Given the description of an element on the screen output the (x, y) to click on. 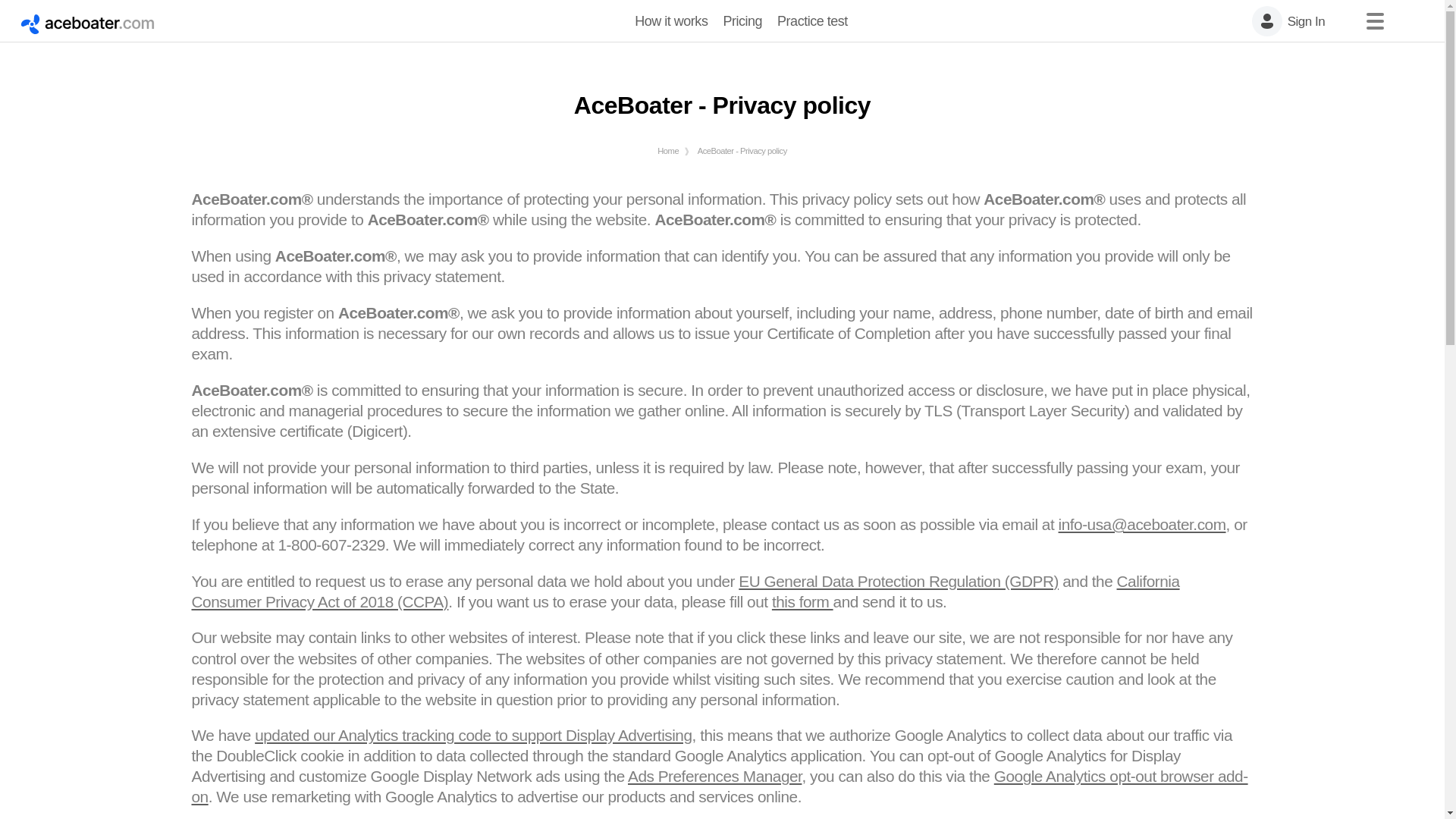
Ads Preferences Manager (714, 775)
Practice test (813, 20)
How it works (670, 20)
Google Analytics opt-out browser add-on (718, 786)
Sign In (1302, 20)
Home (667, 150)
Pricing (742, 20)
Home (667, 150)
Sign In (1302, 20)
AceBoater - Privacy policy (742, 150)
AceBoater - Privacy policy (742, 150)
this form (801, 601)
